Given the description of an element on the screen output the (x, y) to click on. 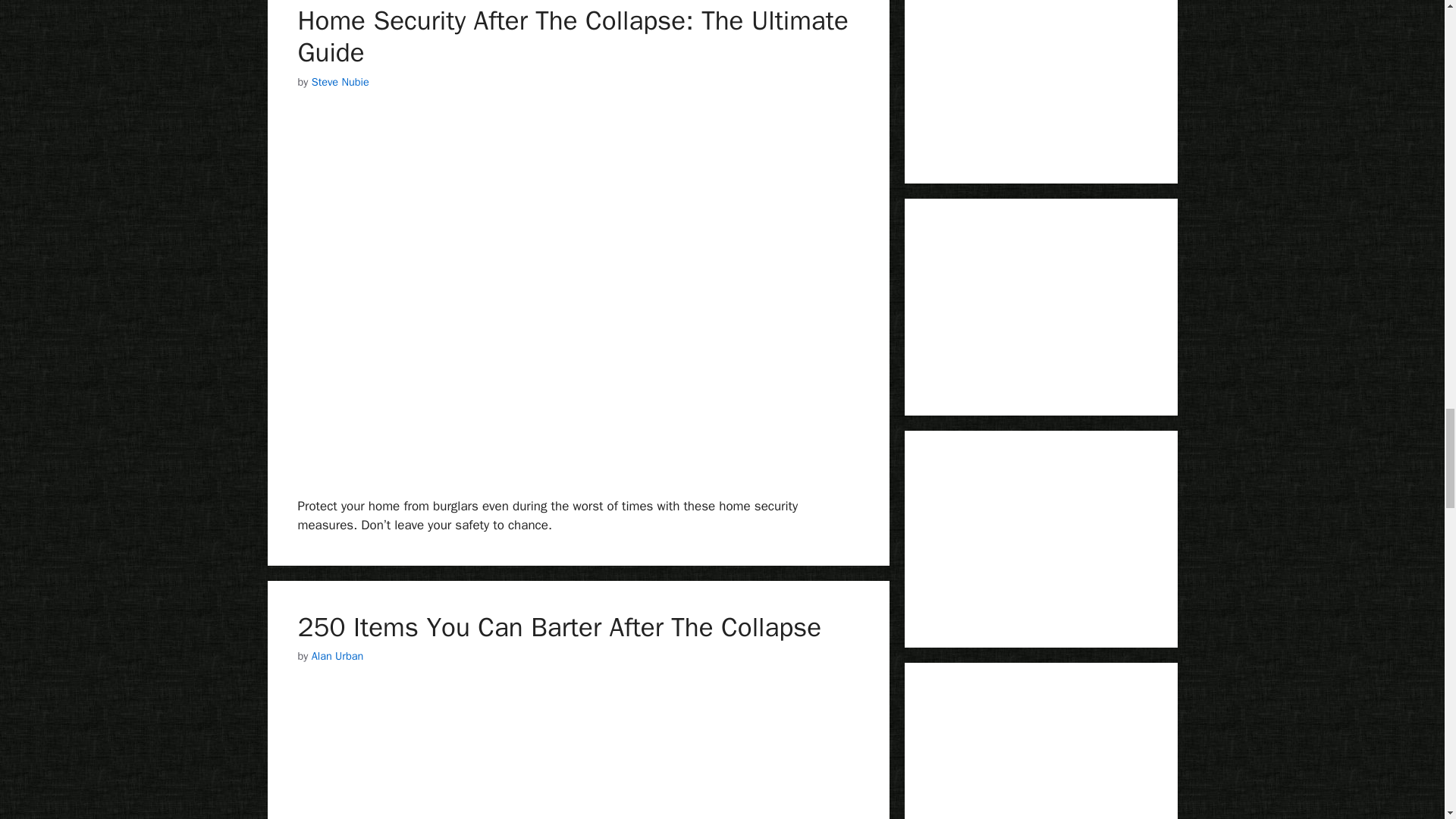
View all posts by Steve Nubie (340, 81)
View all posts by Alan Urban (337, 655)
